Given the description of an element on the screen output the (x, y) to click on. 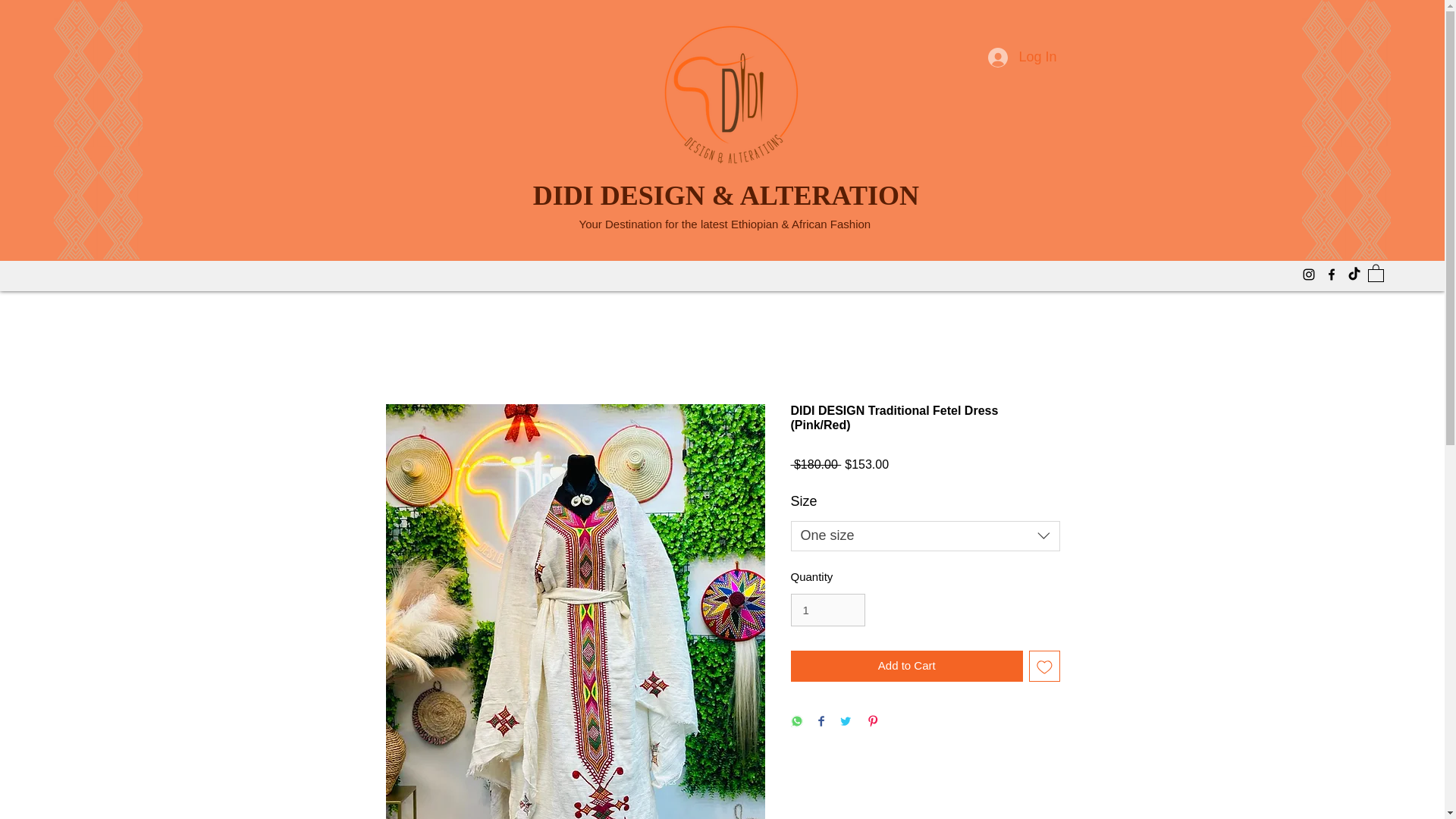
Log In (1021, 57)
Add to Cart (906, 665)
One size (924, 535)
pattern.png (1345, 129)
pattern.png (97, 129)
1 (827, 610)
